Given the description of an element on the screen output the (x, y) to click on. 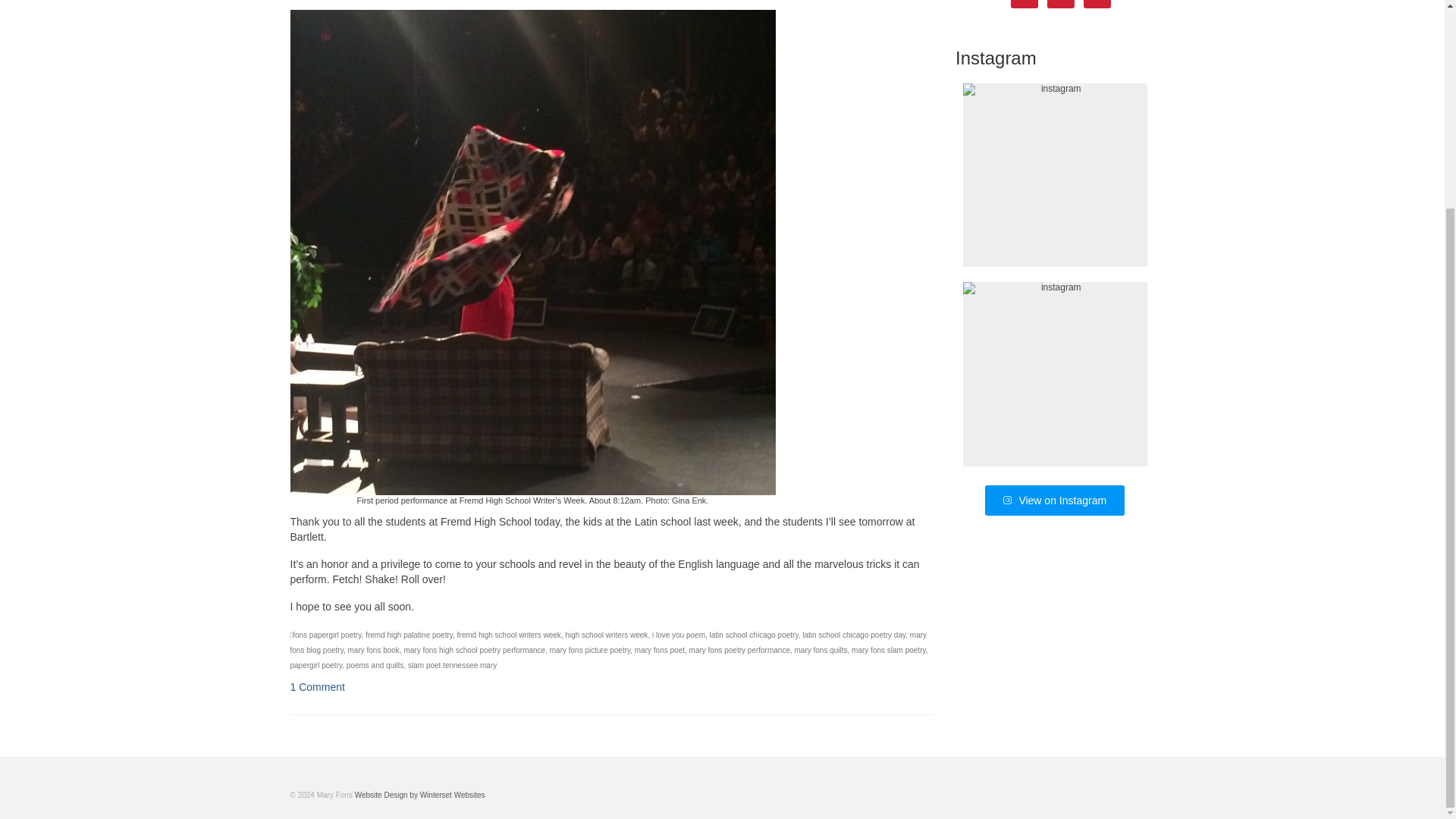
fremd high school writers week (508, 634)
mary fons slam poetry (888, 650)
papergirl poetry (315, 664)
mary fons quilts (820, 650)
fons papergirl poetry (326, 634)
latin school chicago poetry day (853, 634)
1 Comment (316, 686)
mary fons picture poetry (590, 650)
fremd high palatine poetry (408, 634)
mary fons poetry performance (739, 650)
mary fons blog poetry (607, 642)
mary fons high school poetry performance (473, 650)
latin school chicago poetry (753, 634)
mary fons poet (659, 650)
poems and quilts (375, 664)
